Given the description of an element on the screen output the (x, y) to click on. 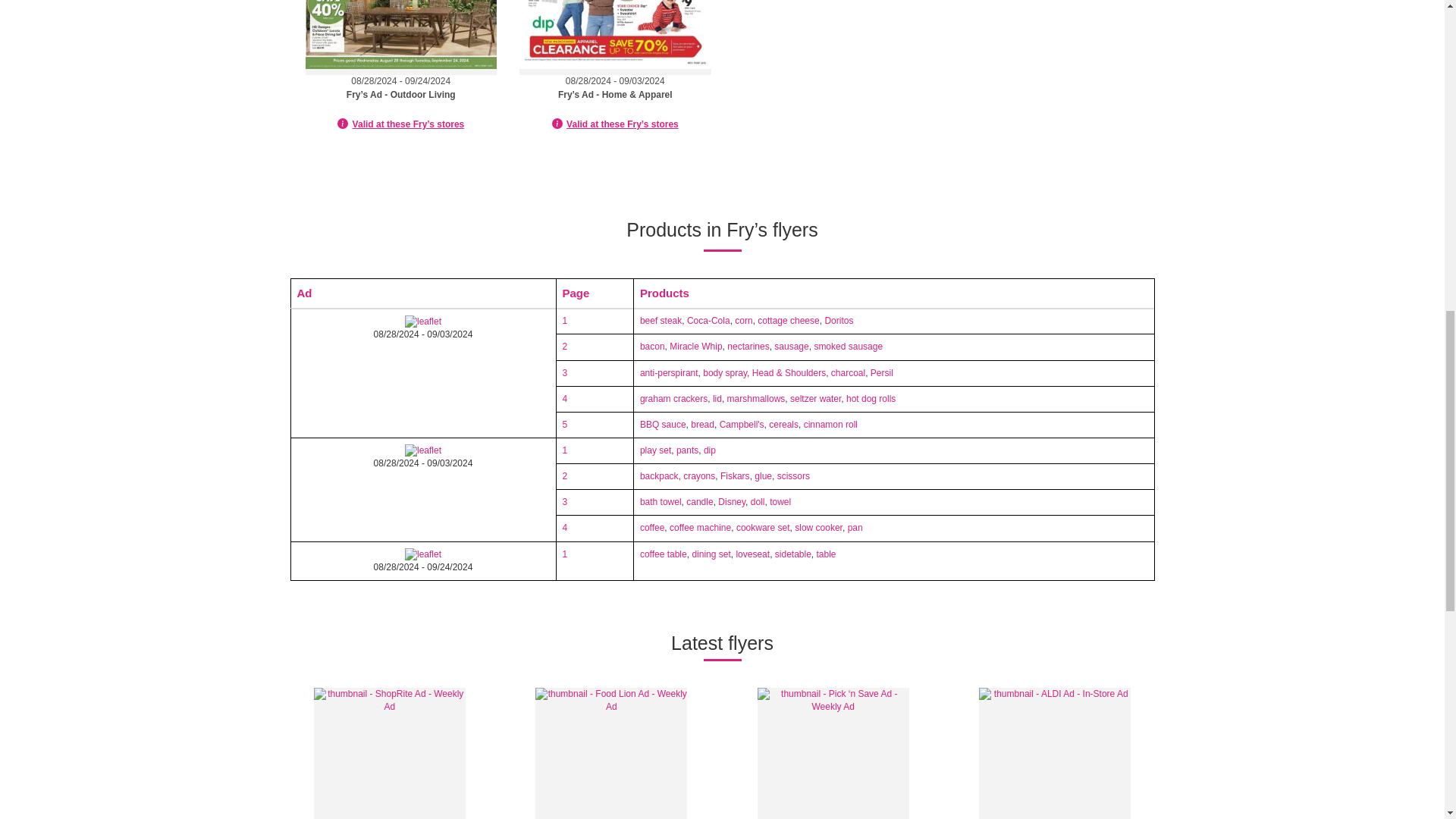
Coca-Cola (708, 320)
nectarines (747, 346)
Miracle Whip (695, 346)
beef steak (660, 320)
bacon (652, 346)
corn (743, 320)
Coca-Cola (708, 320)
beef steak (660, 320)
Doritos (838, 320)
cottage cheese (787, 320)
